Given the description of an element on the screen output the (x, y) to click on. 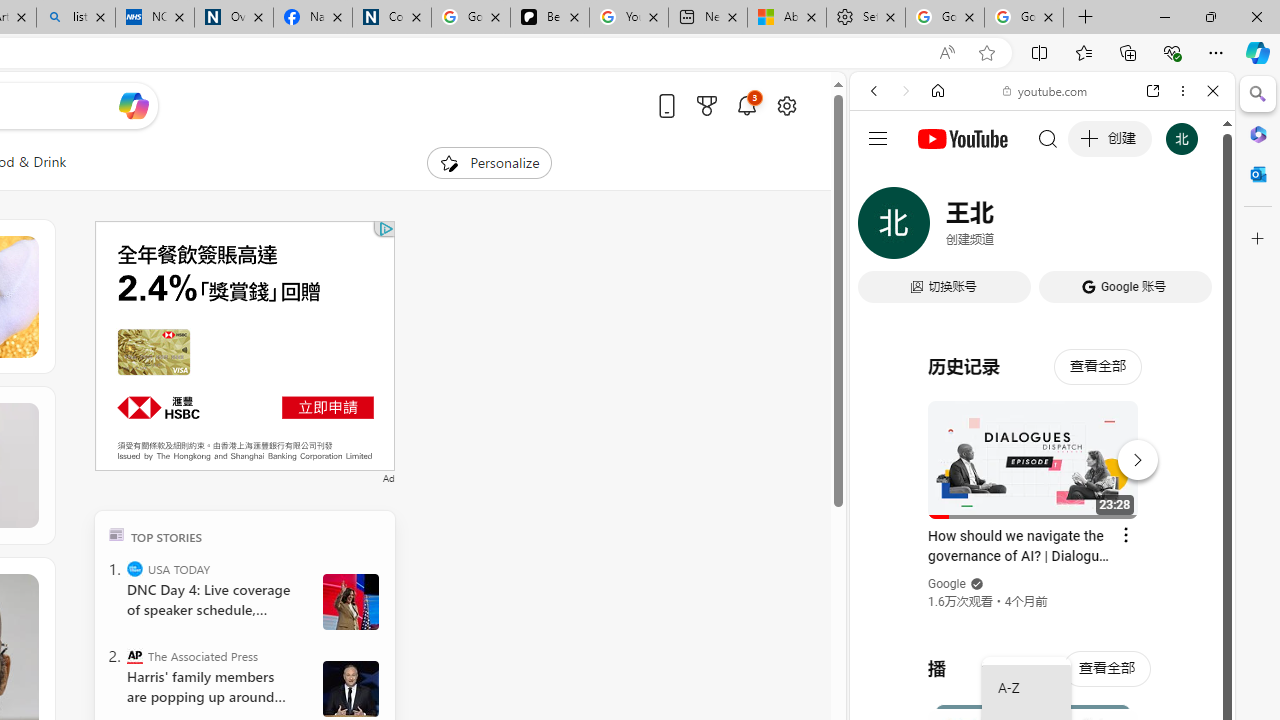
Search Filter, VIDEOS (1006, 228)
Class: qc-adchoices-icon (386, 228)
#you (1042, 445)
Search Filter, WEB (882, 228)
